Given the description of an element on the screen output the (x, y) to click on. 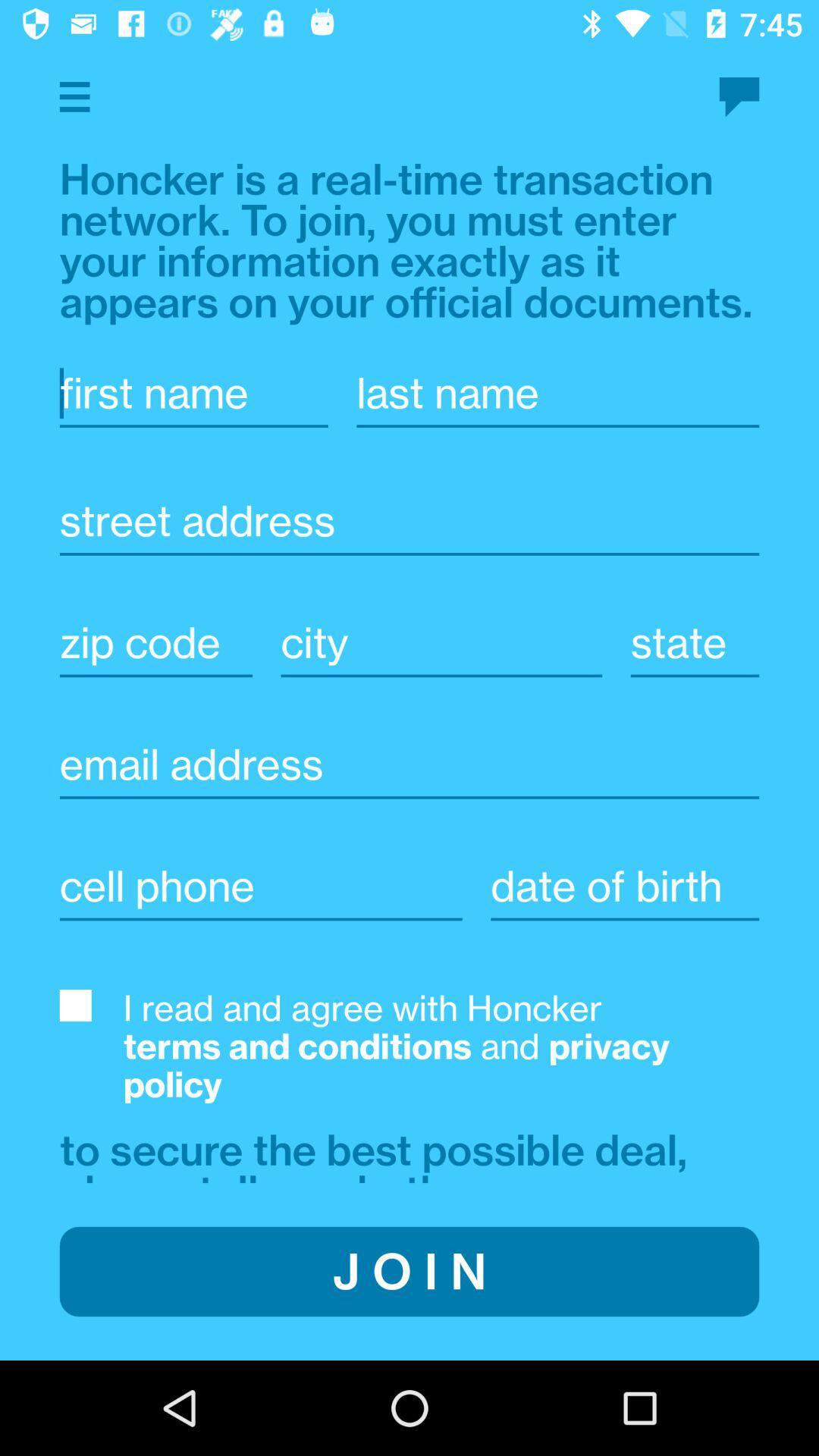
jump until the to secure the (379, 1153)
